Given the description of an element on the screen output the (x, y) to click on. 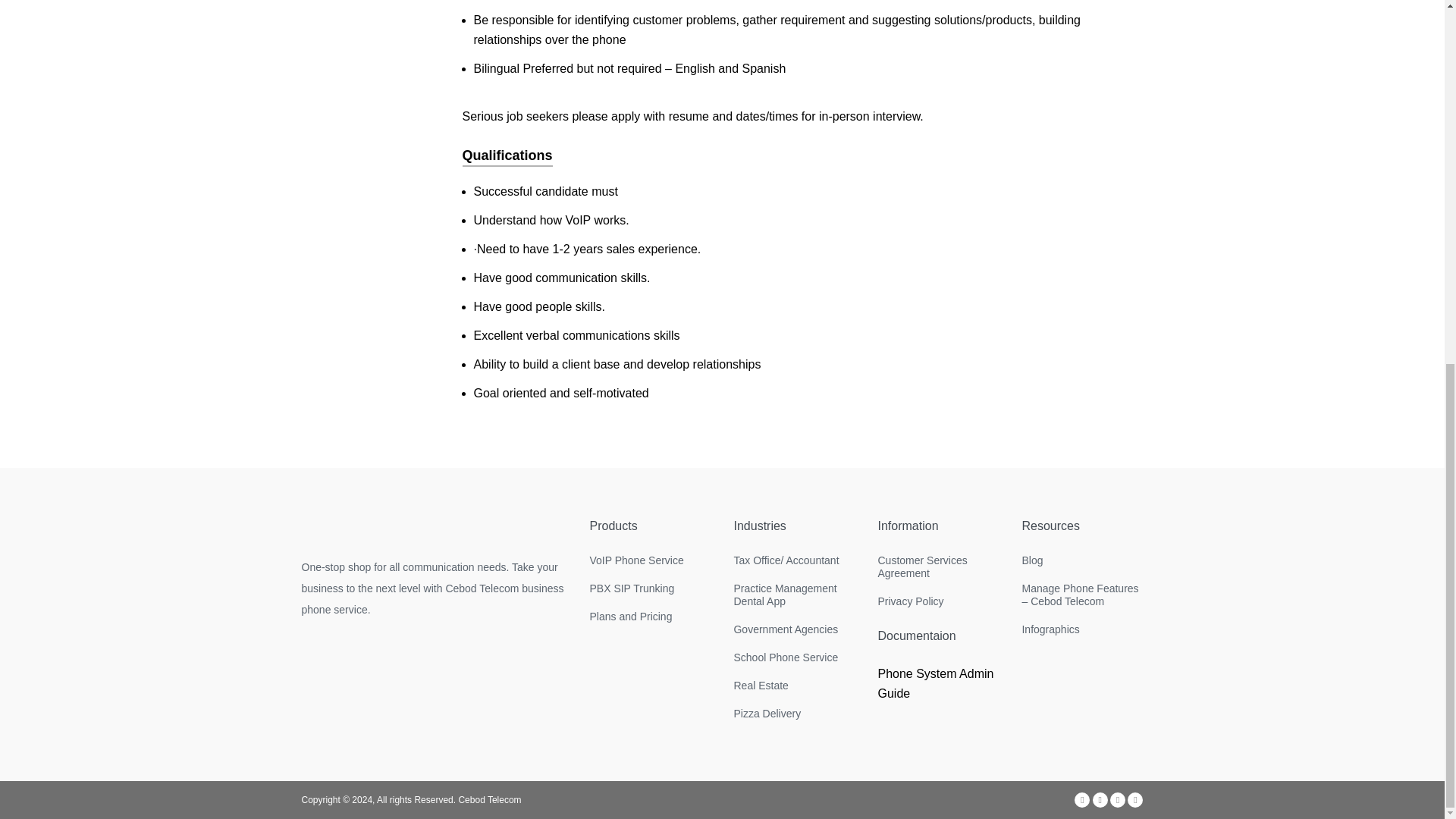
VoIP Phone Service (649, 560)
Real Estate (793, 685)
Practice Management Dental App (793, 595)
Plans and Pricing (649, 616)
PBX SIP Trunking (649, 588)
School Phone Service (793, 657)
Government Agencies (793, 629)
